Given the description of an element on the screen output the (x, y) to click on. 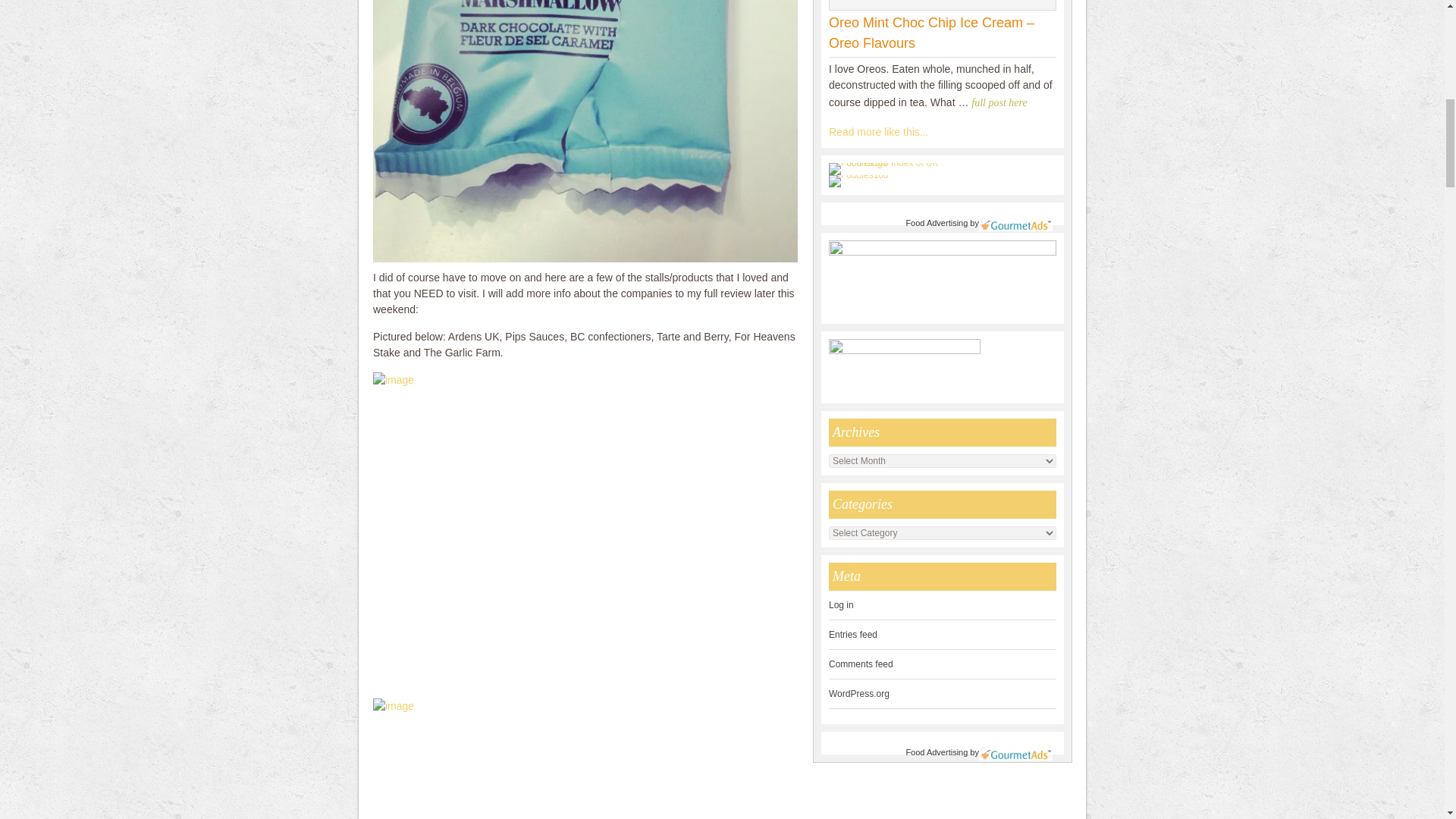
Recipe Development (878, 132)
Food Advertising (936, 751)
Foodies100 Index of UK Food Blogs (890, 163)
Foodies100 (858, 174)
Foodies100 (858, 181)
Foodies100 Index of UK Food Blogs (890, 168)
Food Advertising (936, 222)
